Given the description of an element on the screen output the (x, y) to click on. 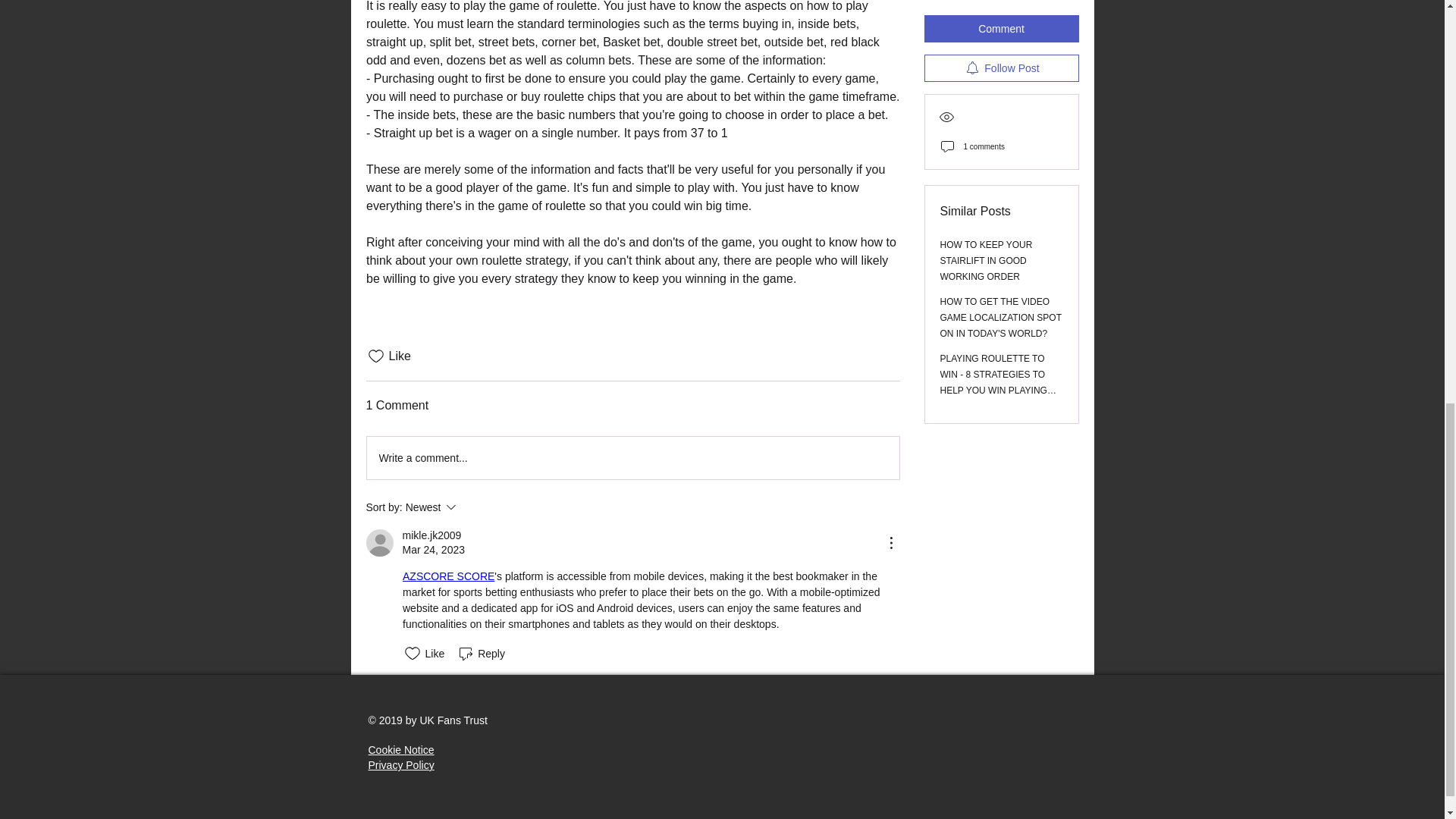
Privacy Policy (400, 765)
Reply (481, 653)
mikle.jk2009 (431, 535)
Write a comment... (632, 457)
Cookie Notice (400, 749)
AZSCORE SCORE (471, 506)
